Given the description of an element on the screen output the (x, y) to click on. 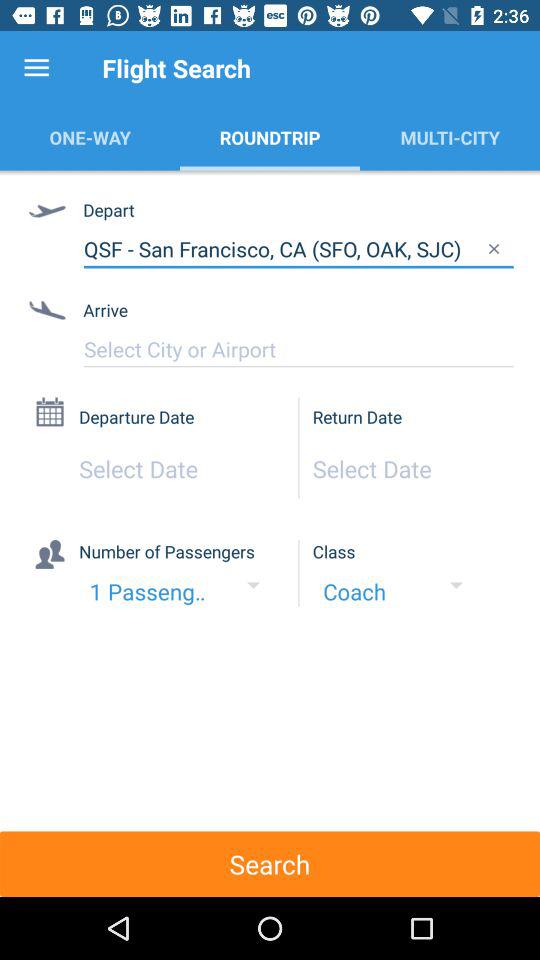
turn off item below the arrive item (298, 349)
